Given the description of an element on the screen output the (x, y) to click on. 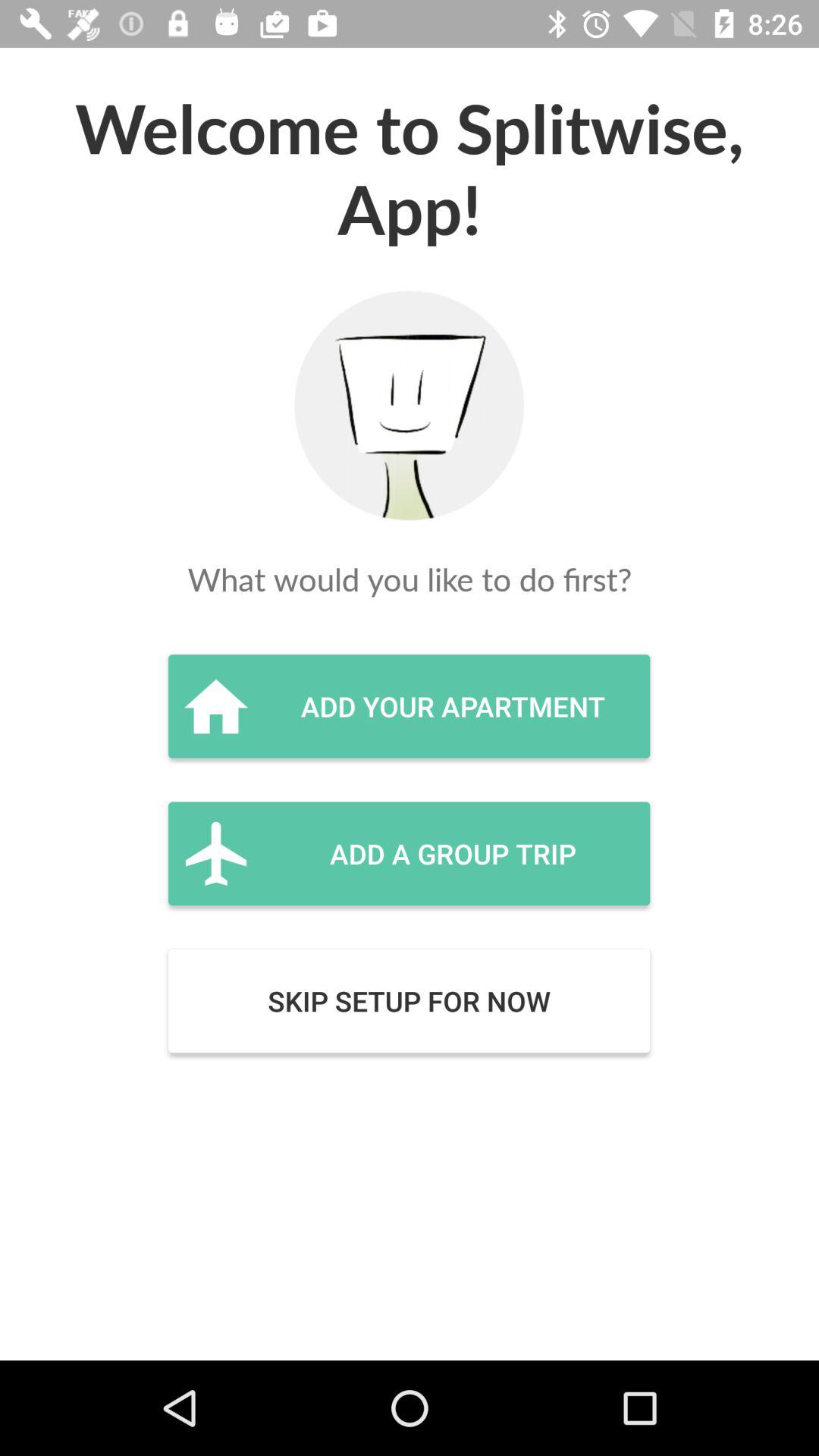
choose the icon below the add your apartment item (409, 853)
